Given the description of an element on the screen output the (x, y) to click on. 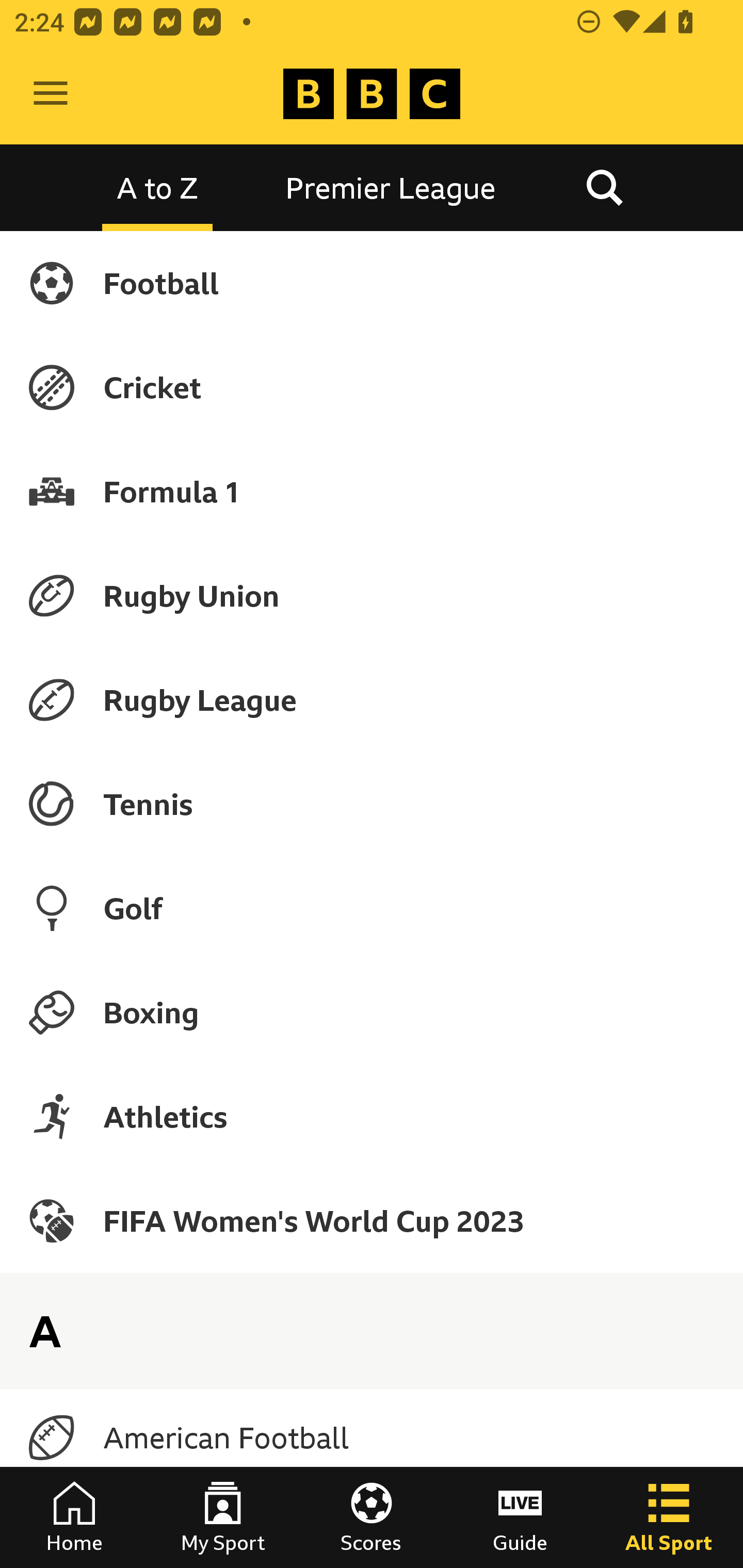
Open Menu (50, 93)
Premier League (390, 187)
Search (604, 187)
Football (371, 282)
Cricket (371, 387)
Formula 1 (371, 491)
Rugby Union (371, 595)
Rugby League (371, 699)
Tennis (371, 804)
Golf (371, 907)
Boxing (371, 1011)
Athletics (371, 1116)
FIFA Women's World Cup 2023 (371, 1220)
American Football (371, 1437)
Home (74, 1517)
My Sport (222, 1517)
Scores (371, 1517)
Guide (519, 1517)
